Given the description of an element on the screen output the (x, y) to click on. 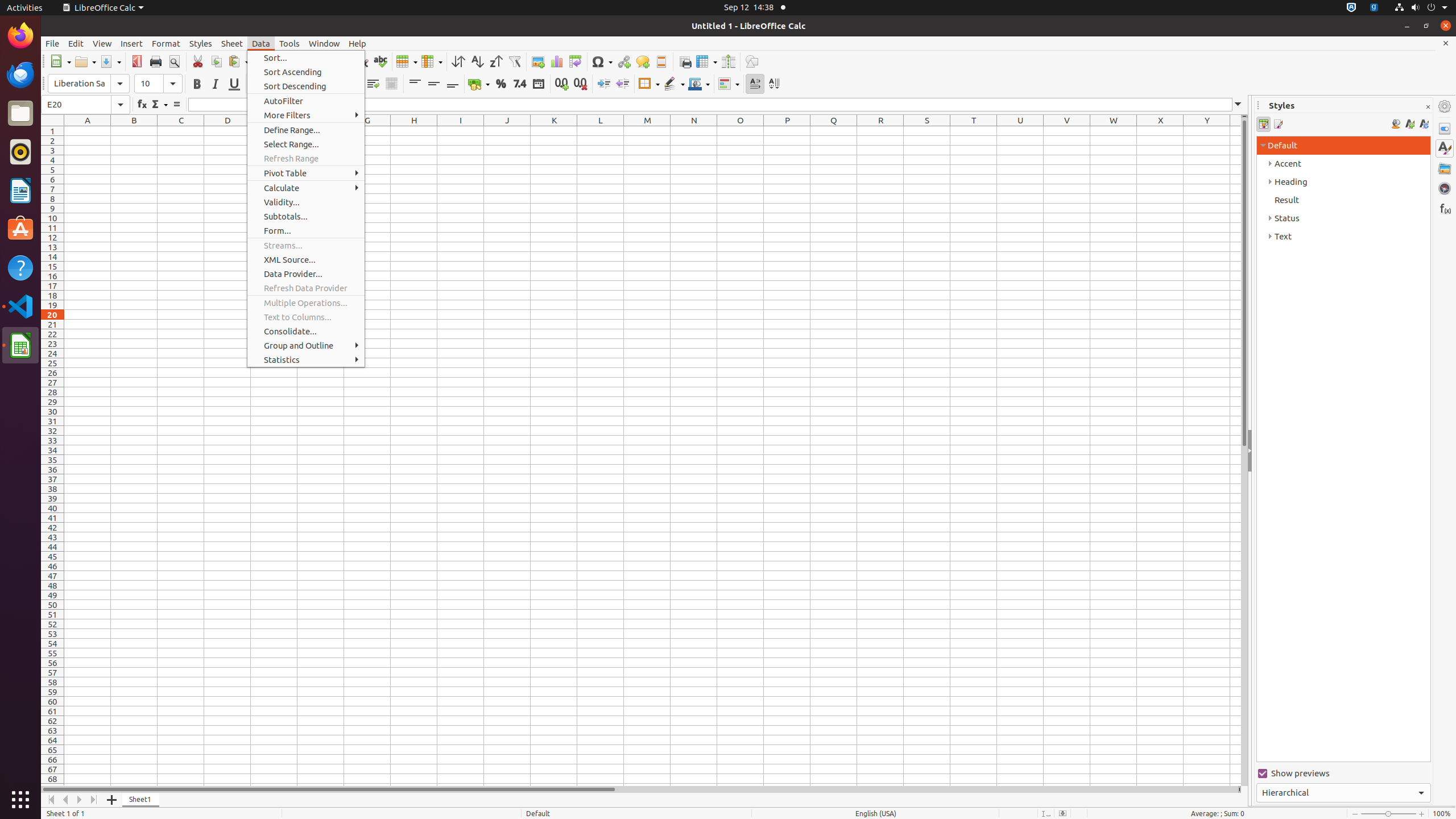
Thunderbird Mail Element type: push-button (20, 74)
Validity... Element type: menu-item (305, 202)
Help Element type: menu (357, 43)
Formula Element type: push-button (176, 104)
B1 Element type: table-cell (133, 130)
